Given the description of an element on the screen output the (x, y) to click on. 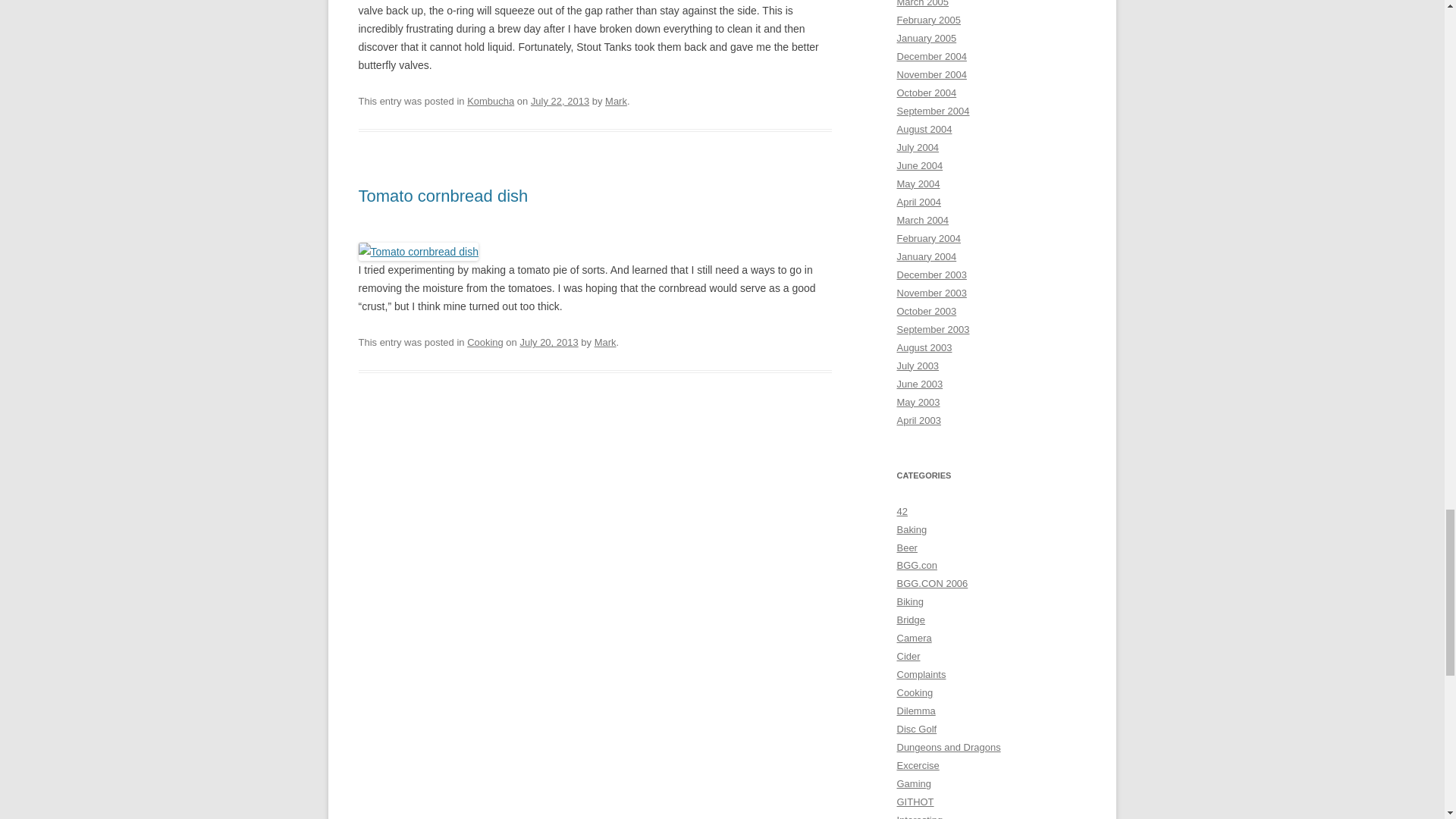
Mark (616, 101)
July 22, 2013 (560, 101)
Mark (604, 342)
4:22 pm (560, 101)
View all posts by Mark (604, 342)
Tomato cornbread dish (442, 195)
July 20, 2013 (548, 342)
Kombucha (490, 101)
Cooking (485, 342)
View all posts by Mark (616, 101)
